Given the description of an element on the screen output the (x, y) to click on. 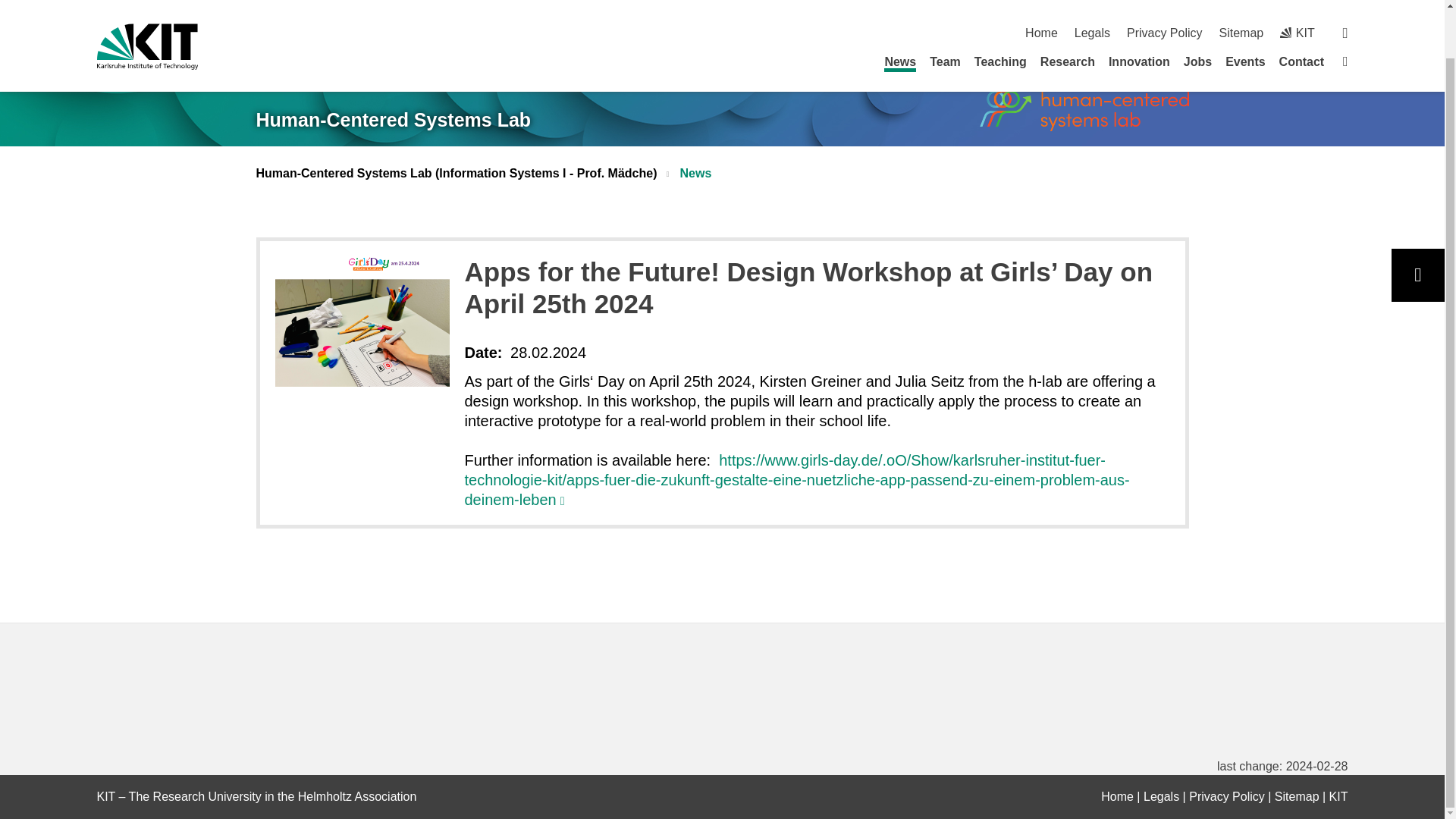
KIT-Homepage (147, 9)
startpage (1345, 9)
News (899, 12)
Human-Centered Systems Lab (393, 119)
Human-Centered Systems Lab (1084, 110)
Team (945, 10)
startpage (1117, 796)
Teaching (1000, 10)
